Given the description of an element on the screen output the (x, y) to click on. 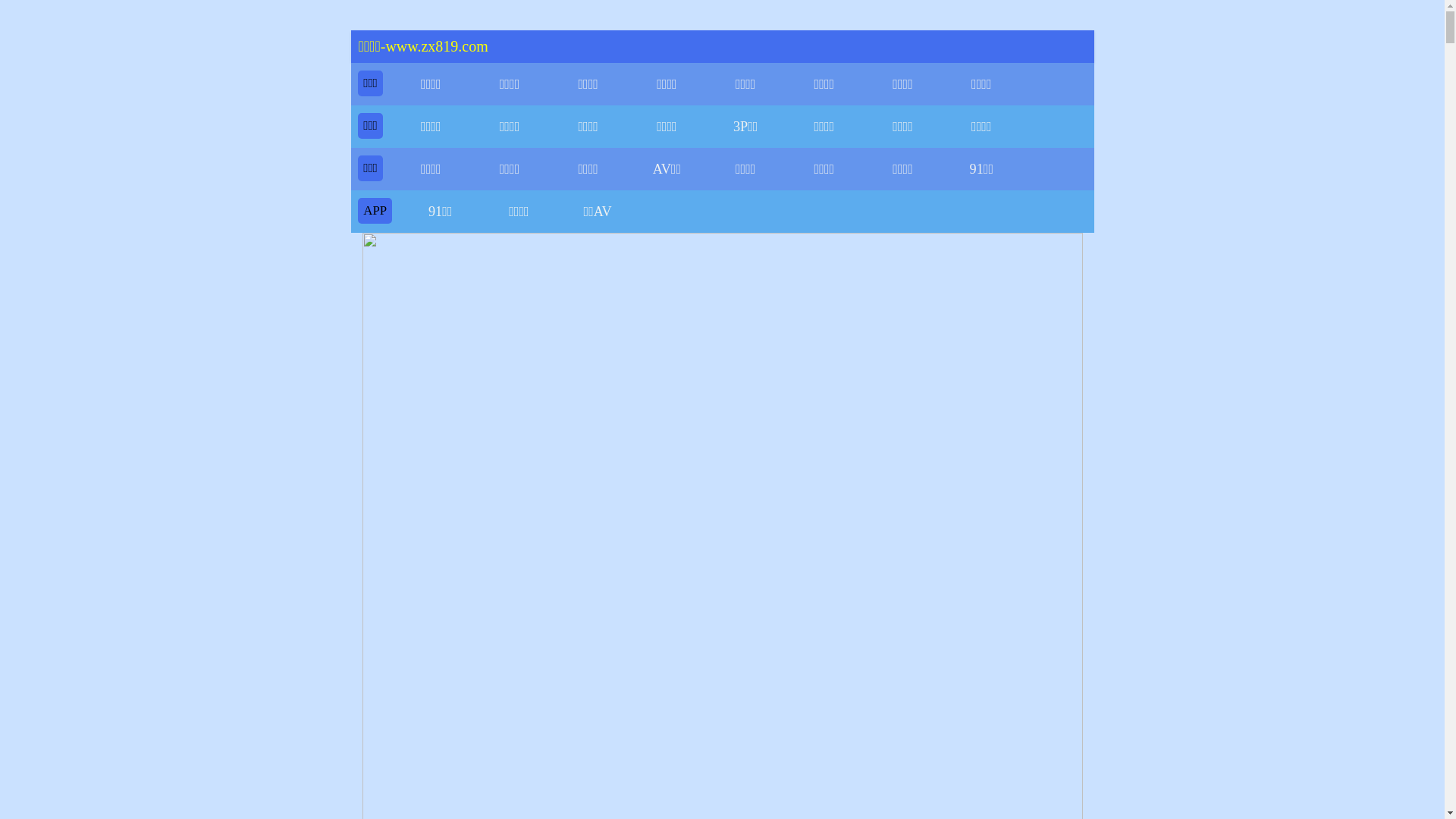
APP Element type: text (374, 210)
